Given the description of an element on the screen output the (x, y) to click on. 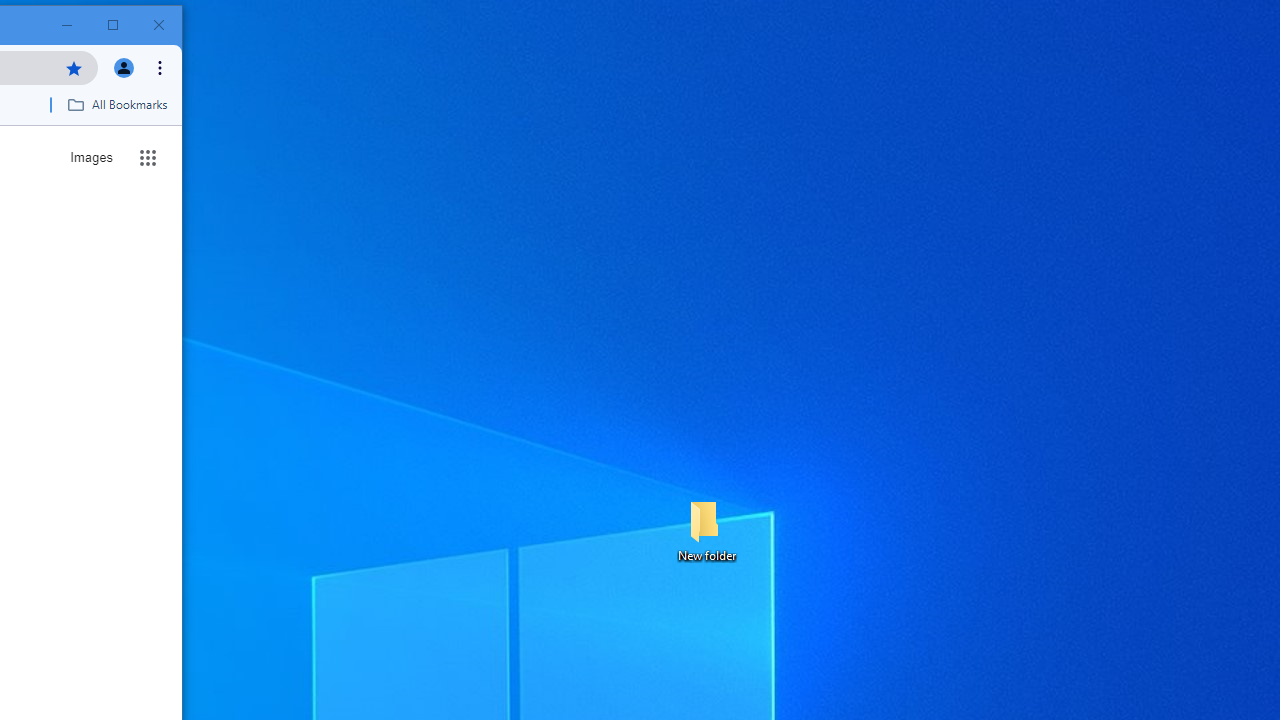
New folder (706, 530)
